Given the description of an element on the screen output the (x, y) to click on. 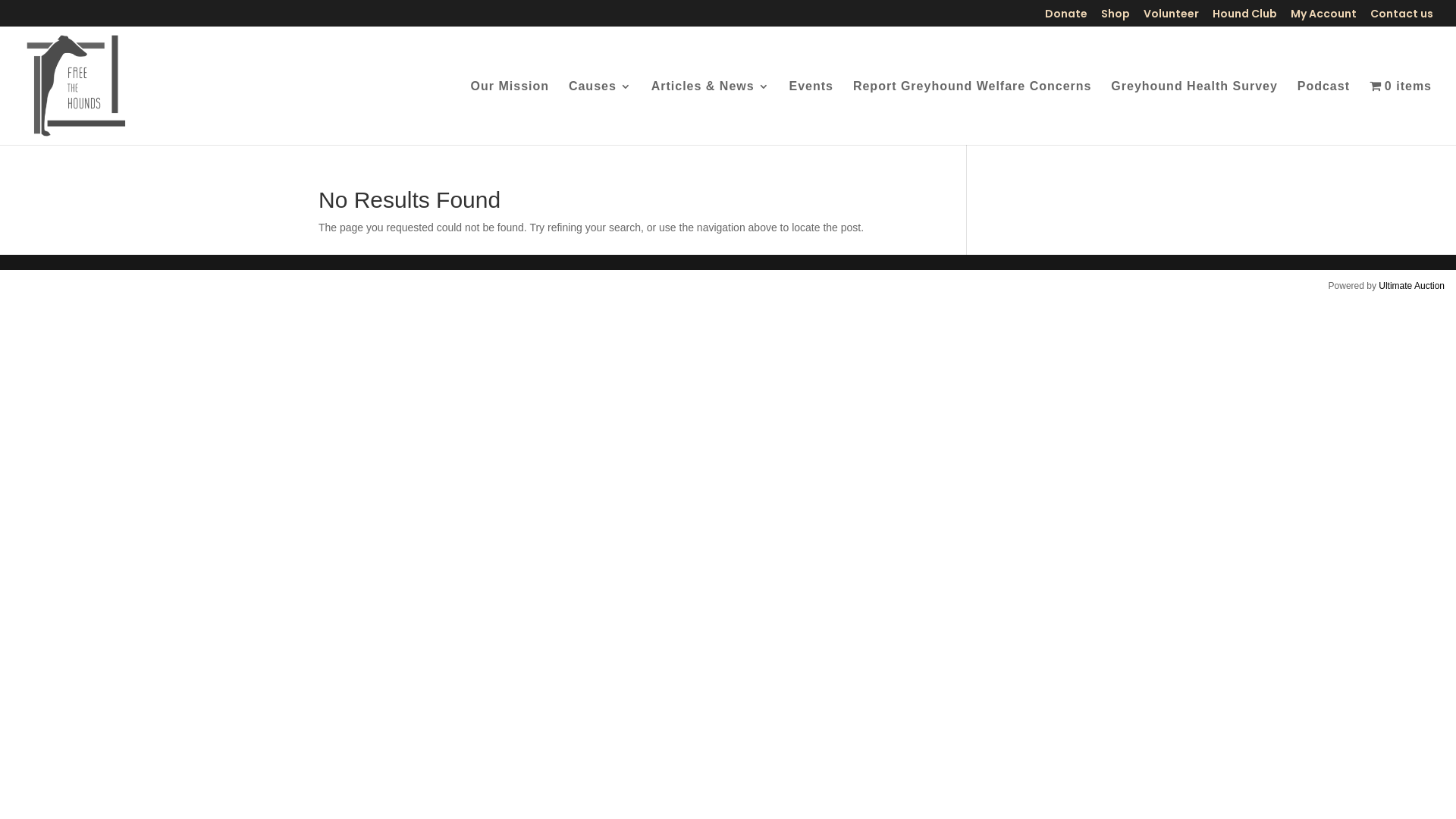
My Account Element type: text (1323, 16)
Hound Club Element type: text (1244, 16)
Volunteer Element type: text (1170, 16)
Articles & News Element type: text (710, 112)
0 items Element type: text (1400, 111)
Greyhound Health Survey Element type: text (1193, 112)
Contact us Element type: text (1401, 16)
Podcast Element type: text (1323, 112)
Report Greyhound Welfare Concerns Element type: text (972, 112)
Donate Element type: text (1065, 16)
Causes Element type: text (599, 112)
Our Mission Element type: text (509, 112)
Events Element type: text (811, 112)
Ultimate Auction Element type: text (1411, 285)
Shop Element type: text (1115, 16)
